Given the description of an element on the screen output the (x, y) to click on. 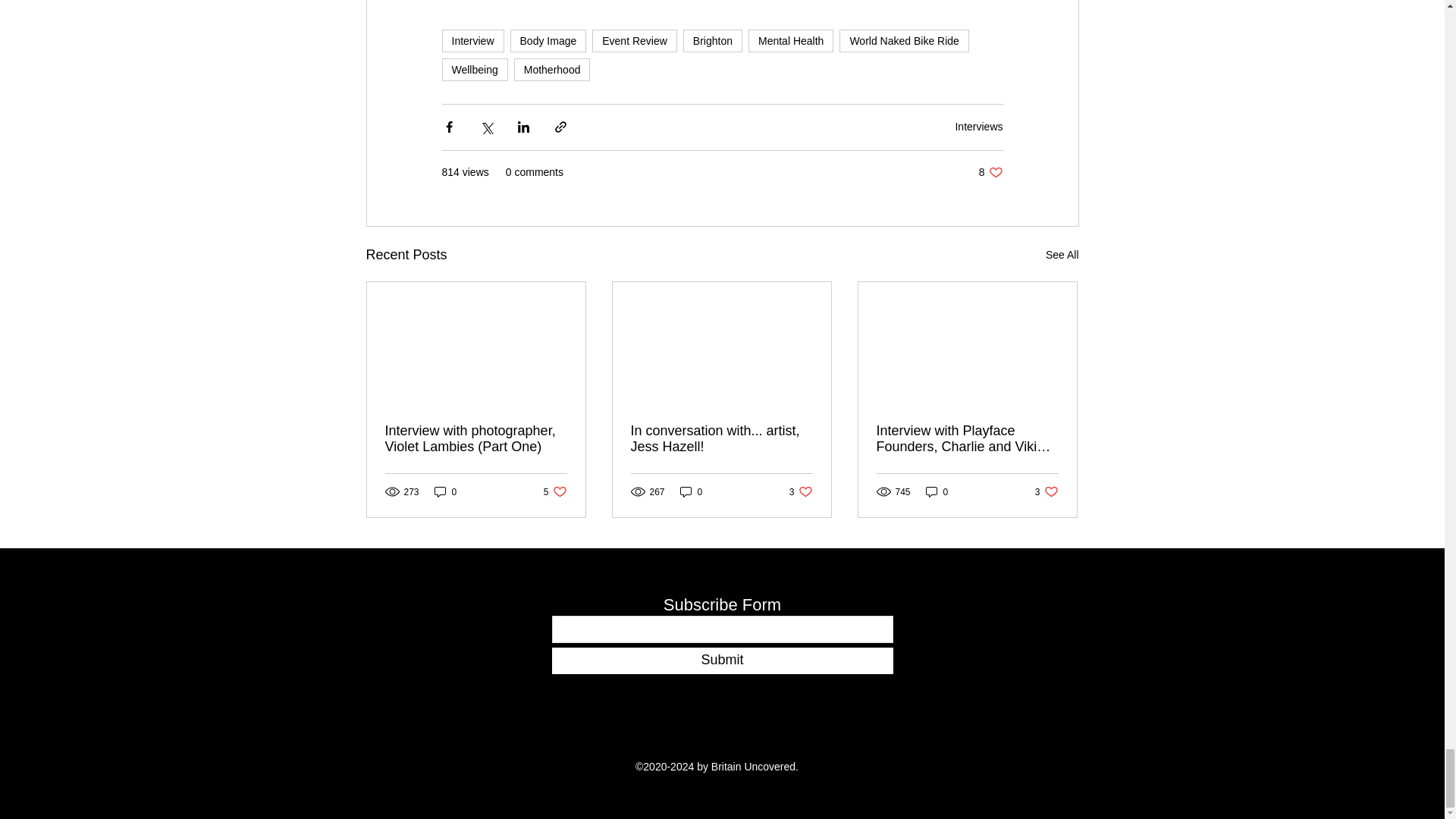
Body Image (548, 40)
Interview (472, 40)
Wellbeing (800, 491)
Brighton (473, 69)
0 (712, 40)
Event Review (445, 491)
Mental Health (634, 40)
Interviews (990, 172)
Motherhood (790, 40)
0 (979, 126)
See All (552, 69)
In conversation with... artist, Jess Hazell! (691, 491)
